Given the description of an element on the screen output the (x, y) to click on. 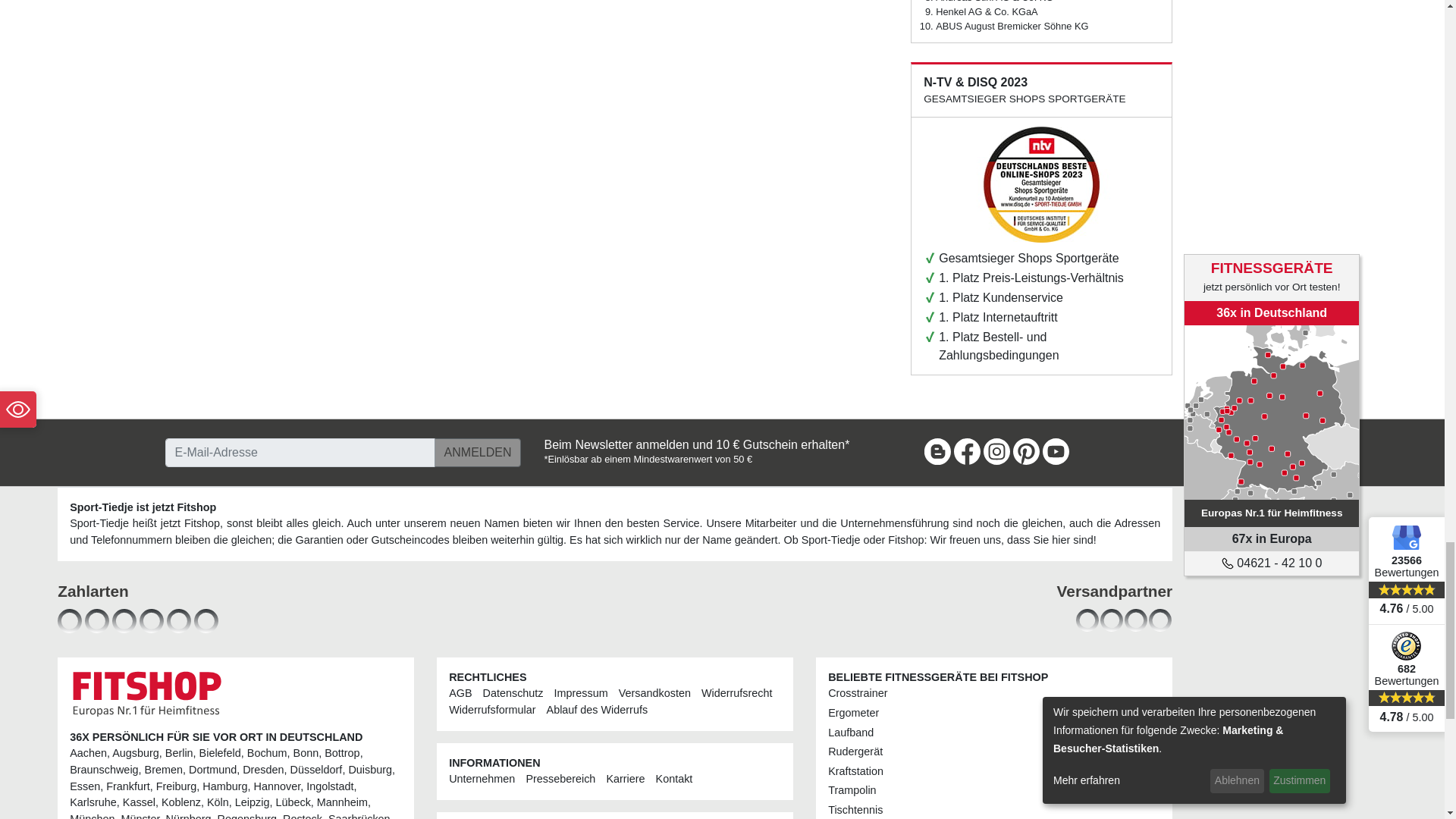
anmelden (477, 452)
